Given the description of an element on the screen output the (x, y) to click on. 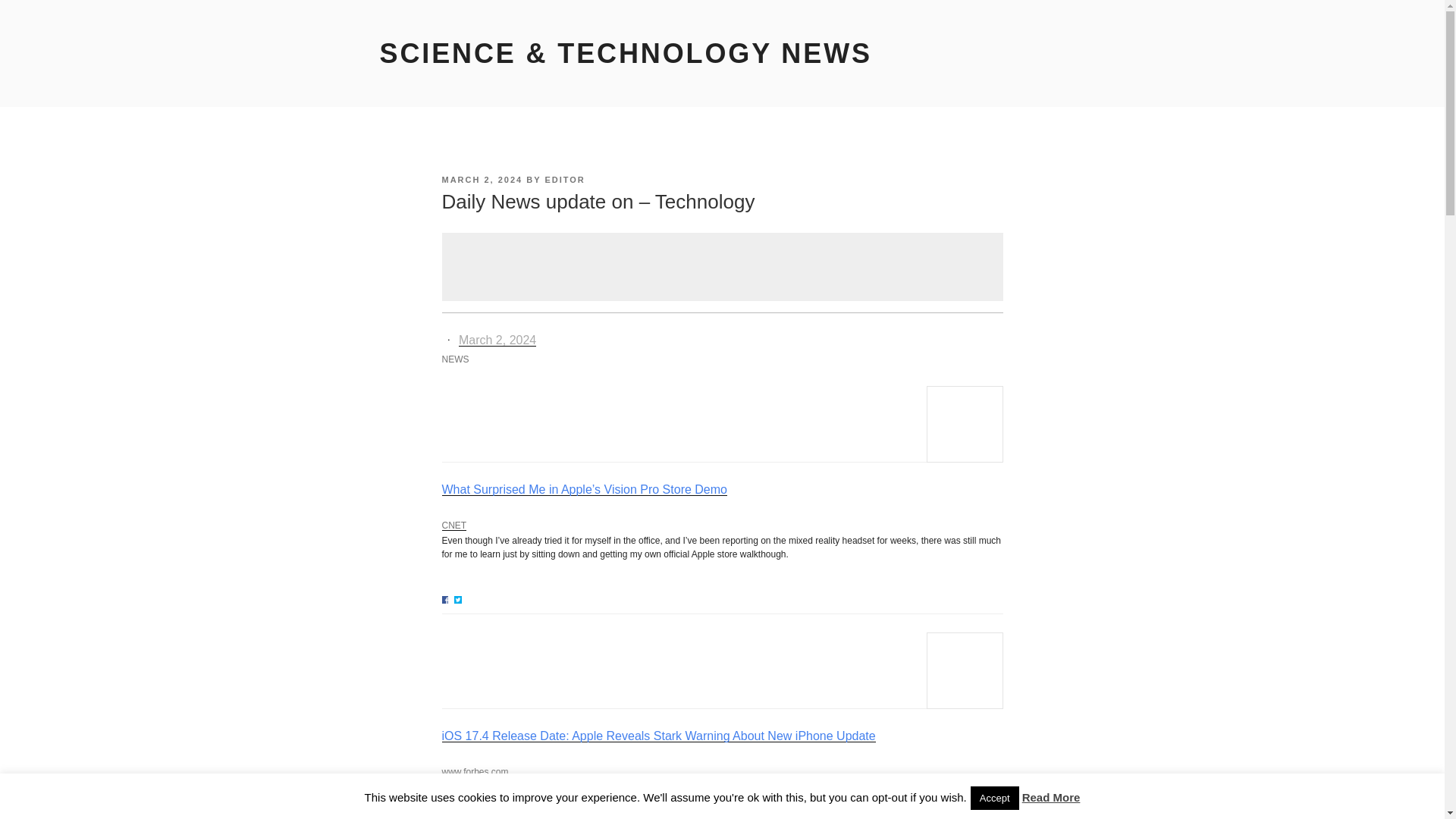
EDITOR (564, 179)
www.forbes.com (474, 771)
CNET (722, 402)
MARCH 2, 2024 (481, 179)
CNET (453, 525)
March 2, 2024 (496, 339)
Advertisement (722, 266)
